Given the description of an element on the screen output the (x, y) to click on. 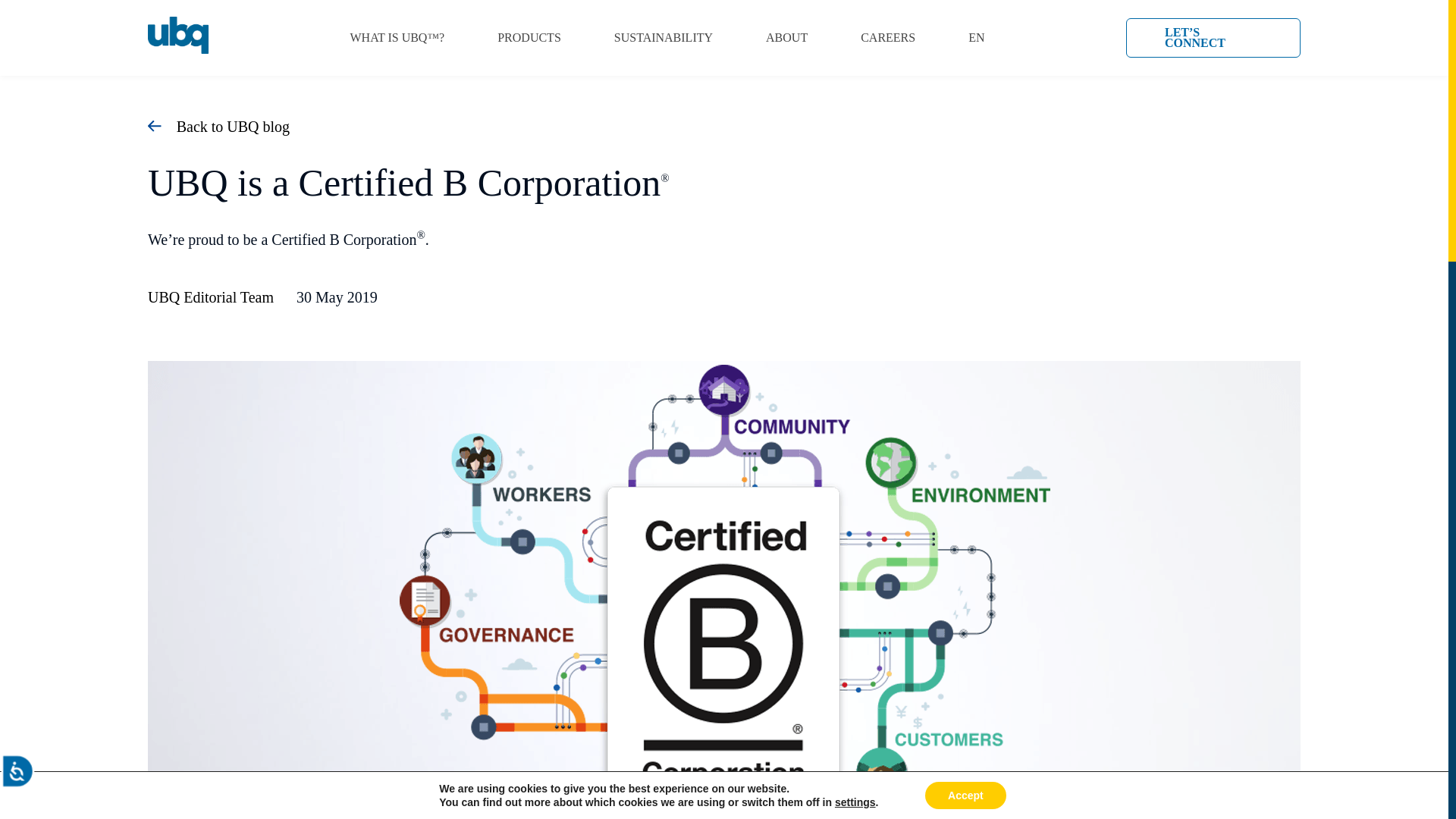
CAREERS (887, 37)
EN (976, 37)
ABOUT (786, 37)
UBQ Editorial Team (210, 297)
SUSTAINABILITY (663, 37)
    Back to UBQ blog (218, 126)
EN (976, 37)
PRODUCTS (528, 37)
Posts by UBQ Editorial Team (210, 297)
Accessibility (33, 786)
